Given the description of an element on the screen output the (x, y) to click on. 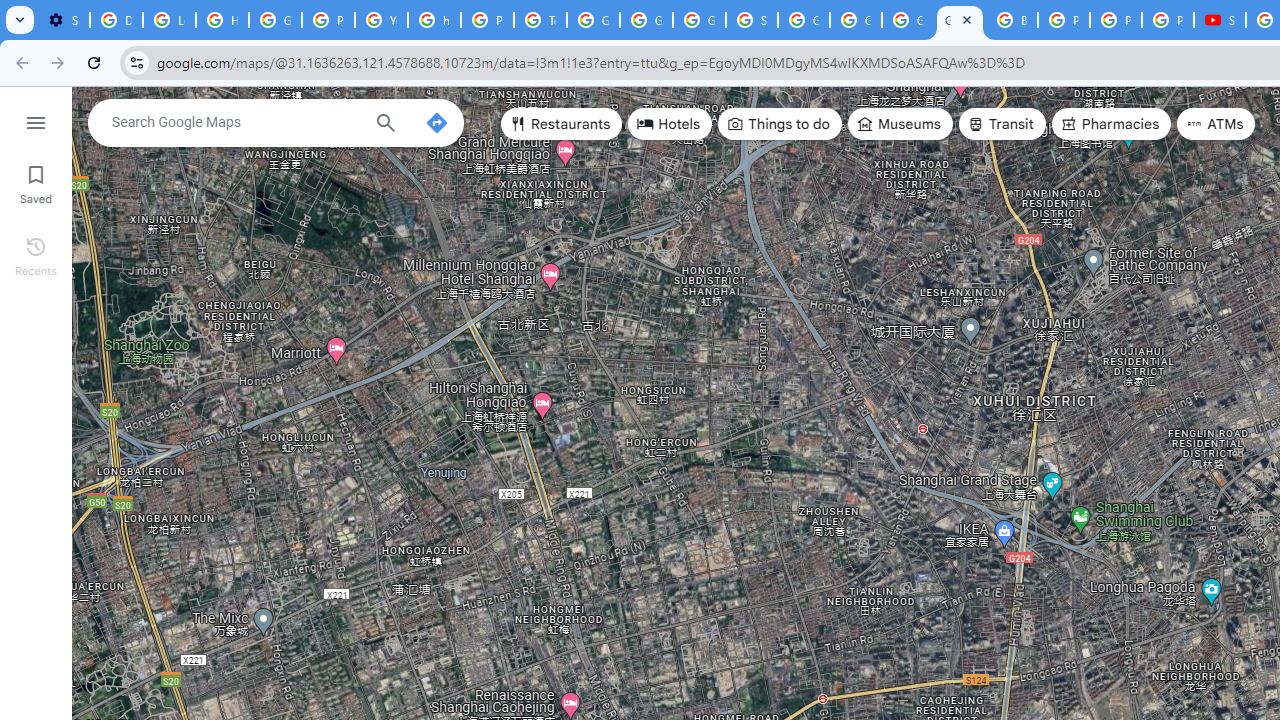
Restaurants (561, 124)
Recents (35, 254)
Delete photos & videos - Computer - Google Photos Help (116, 20)
ATMs (1216, 124)
Search Google Maps (235, 121)
Google Maps (959, 20)
Blogger Policies and Guidelines - Transparency Center (1011, 20)
Things to do (780, 124)
